Given the description of an element on the screen output the (x, y) to click on. 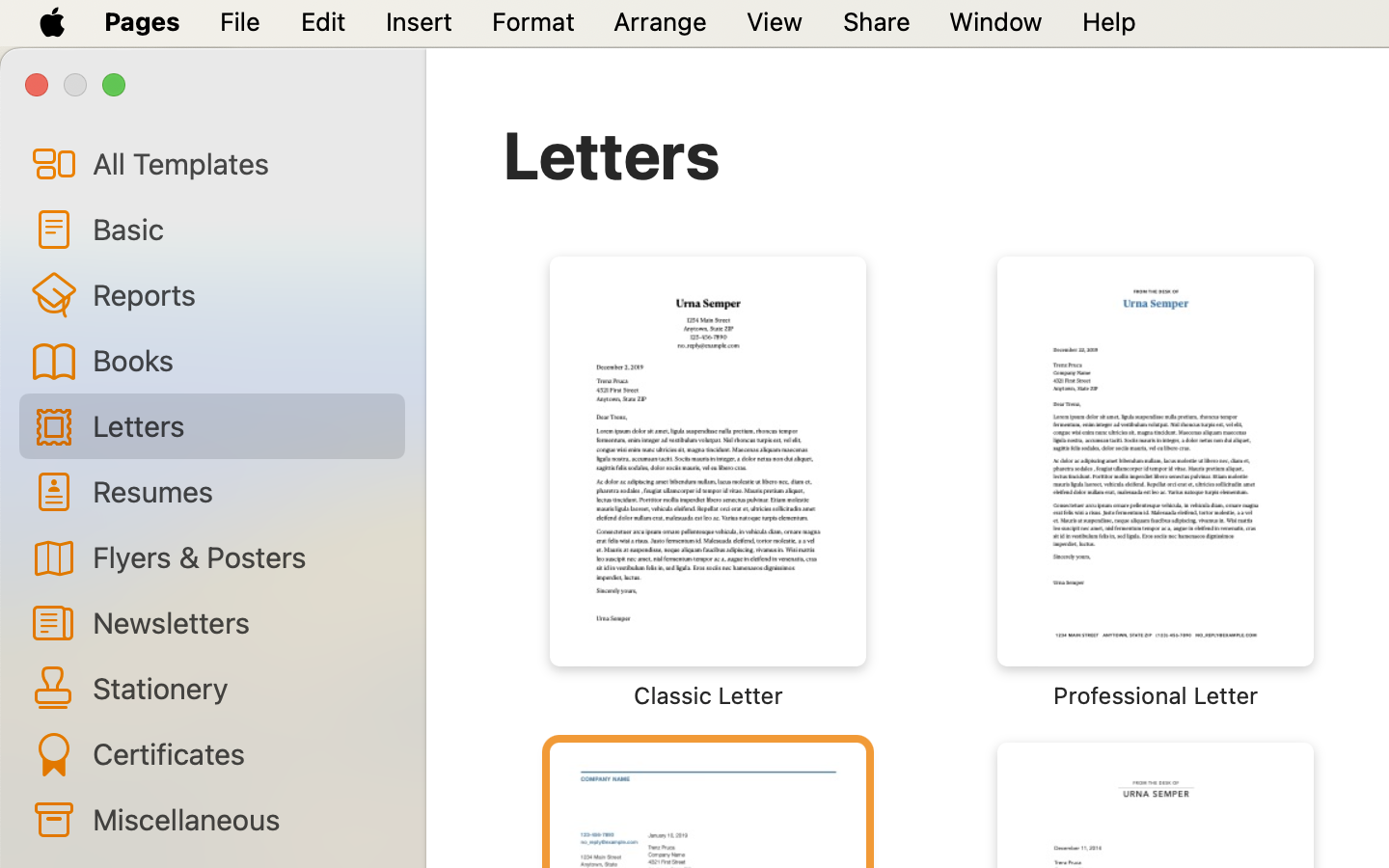
Certificates Element type: AXStaticText (240, 752)
‎⁨Classic Letter⁩ Element type: AXButton (707, 483)
Flyers & Posters Element type: AXStaticText (240, 556)
Basic Element type: AXStaticText (240, 228)
Resumes Element type: AXStaticText (240, 490)
